Given the description of an element on the screen output the (x, y) to click on. 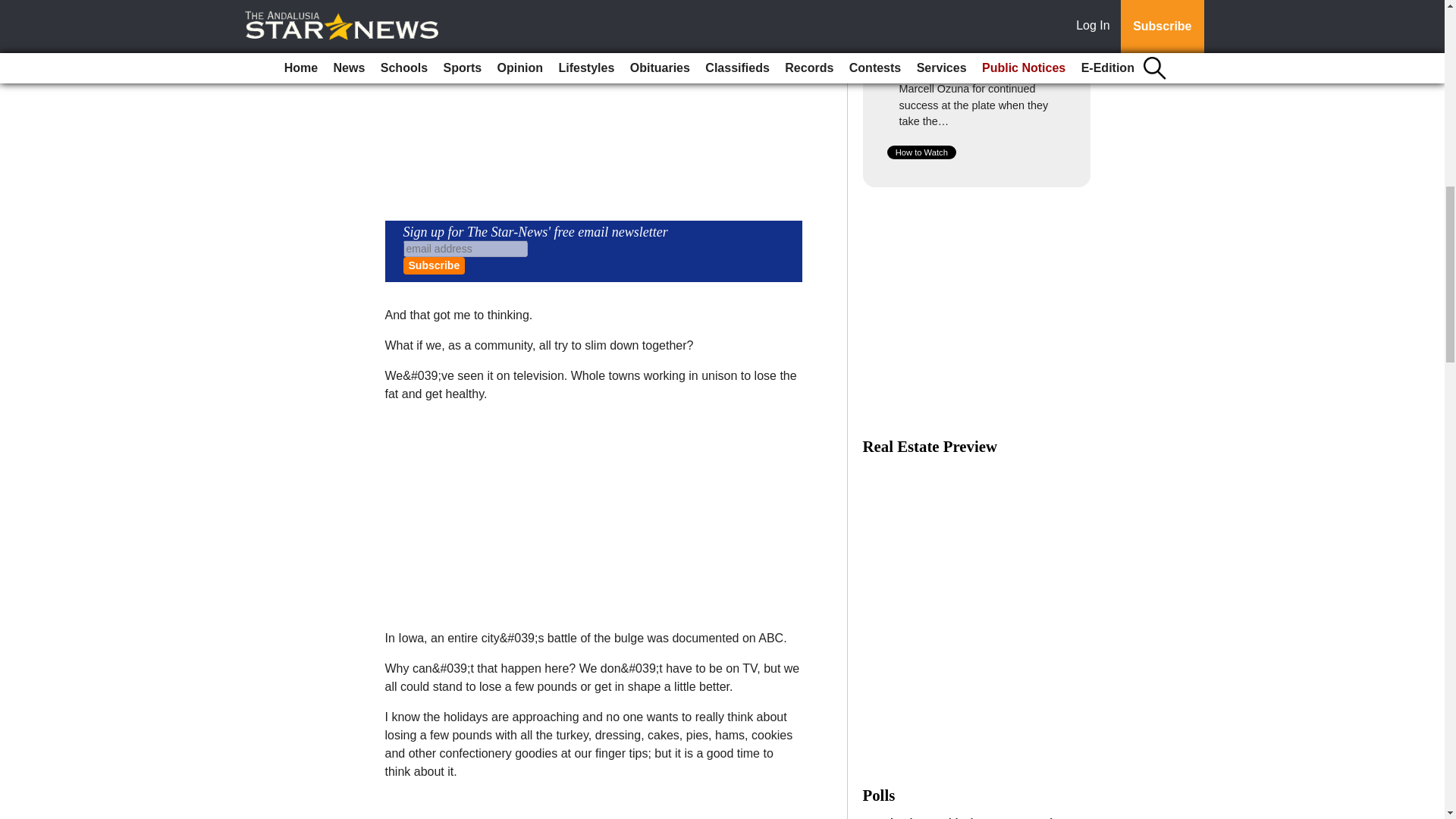
How to Watch (921, 151)
Subscribe (434, 265)
Subscribe (434, 265)
